Given the description of an element on the screen output the (x, y) to click on. 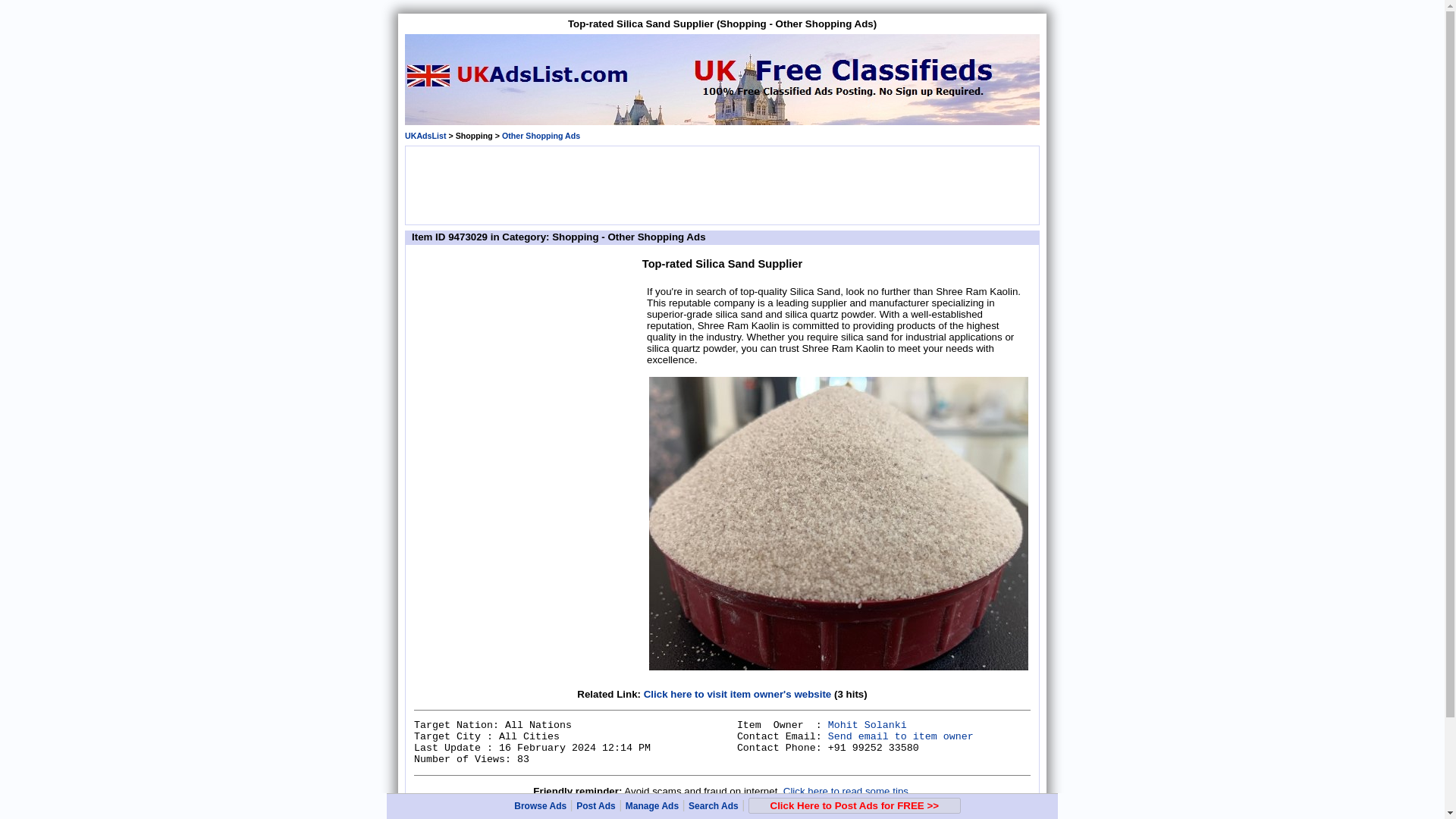
Search Ads (713, 805)
UKAdsList (424, 816)
Other Shopping Ads (540, 816)
Advertisement (527, 379)
Click here to read some tips. (847, 790)
Go Back to UKAdsList.com Home Page (424, 135)
UKAdsList (424, 135)
Manage Ads (652, 805)
Go Back to UKAdsList.com Home Page (424, 816)
Send email to item owner (901, 736)
